Given the description of an element on the screen output the (x, y) to click on. 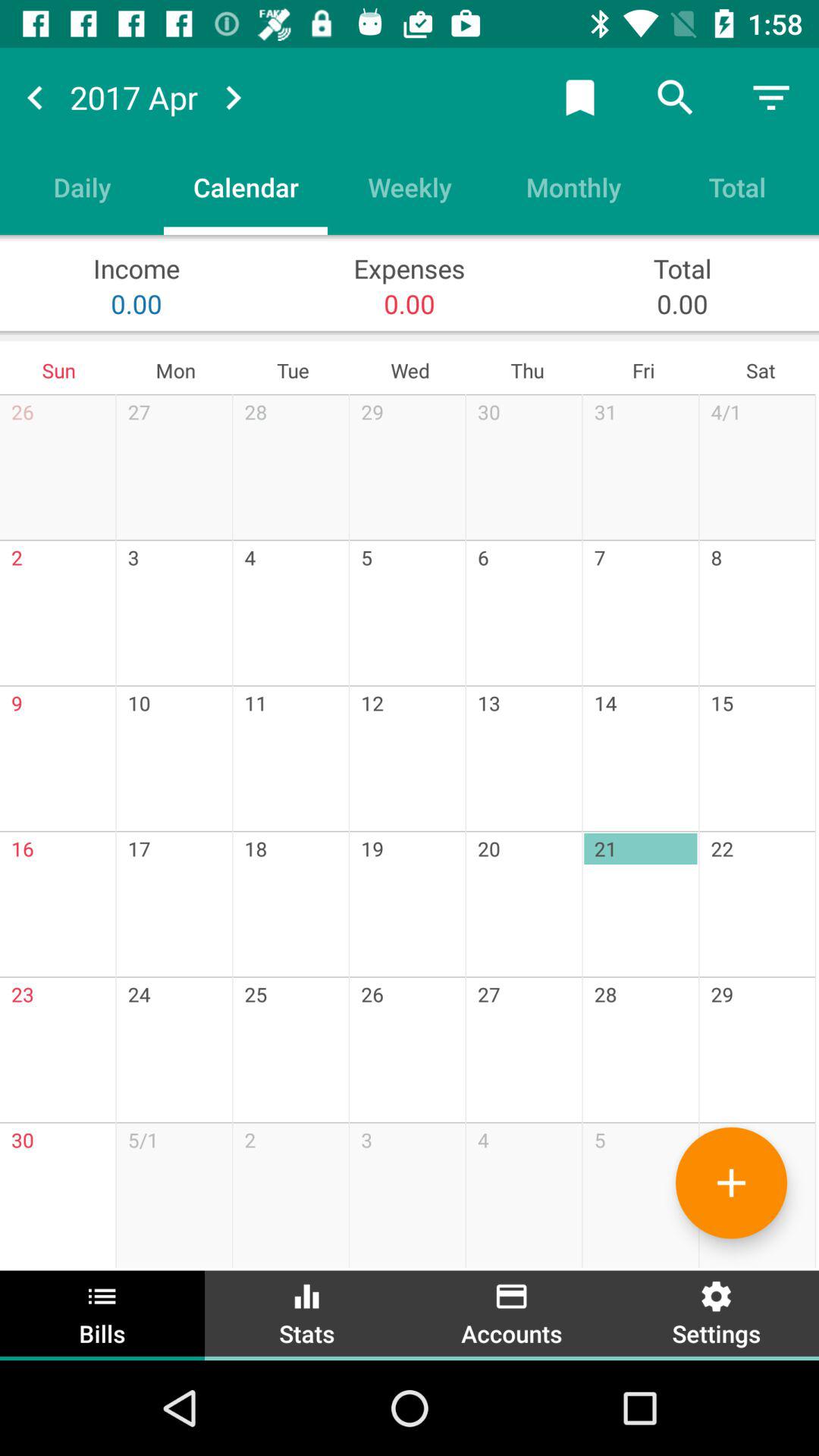
click the icon to the left of the calendar item (81, 186)
